Given the description of an element on the screen output the (x, y) to click on. 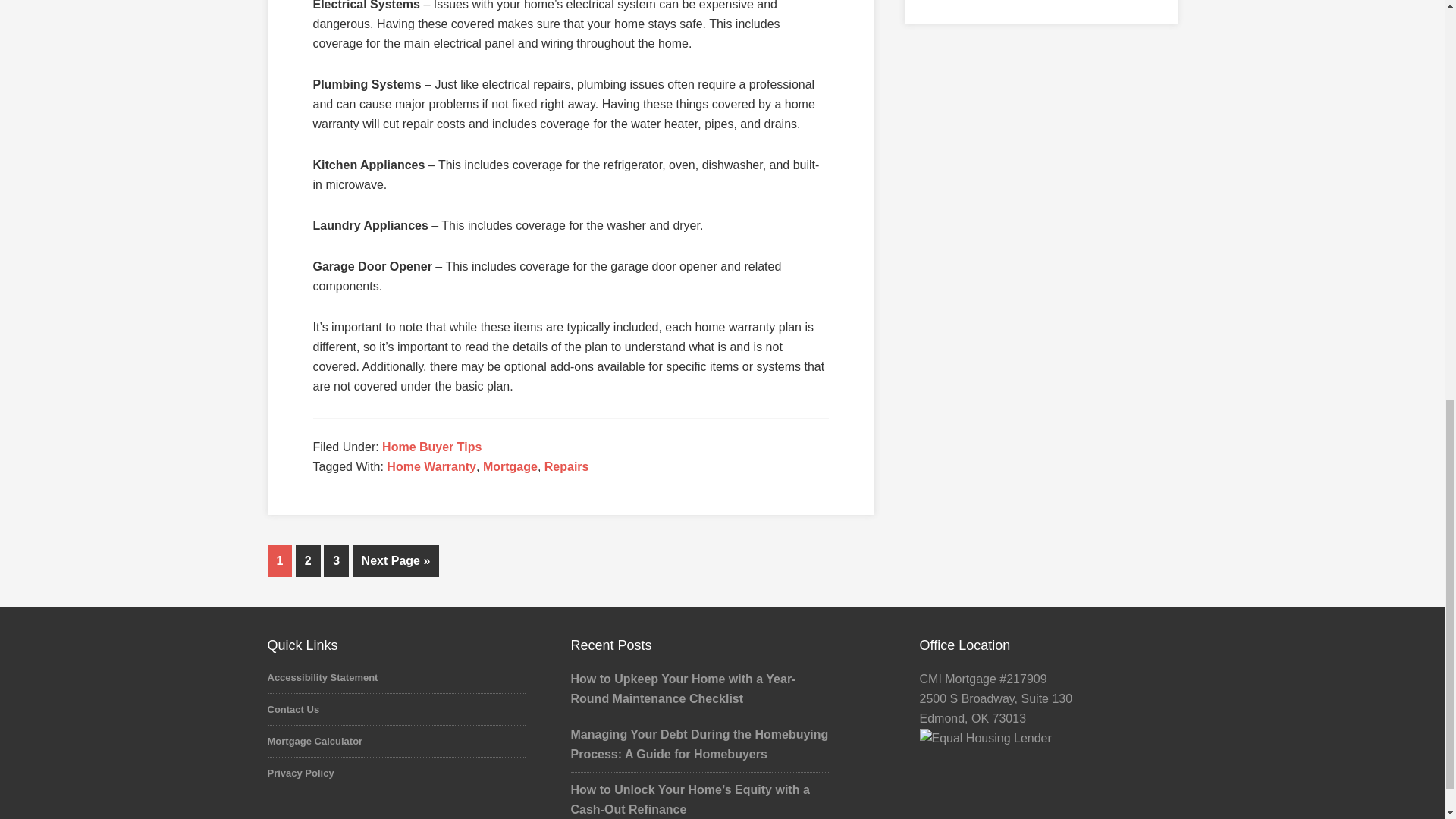
Mortgage (510, 466)
Home Buyer Tips (431, 446)
Repairs (566, 466)
Mortgage Calculator (314, 740)
Contact Us (292, 708)
Home Warranty (431, 466)
Accessibility Statement (321, 677)
Privacy Policy (299, 772)
